Given the description of an element on the screen output the (x, y) to click on. 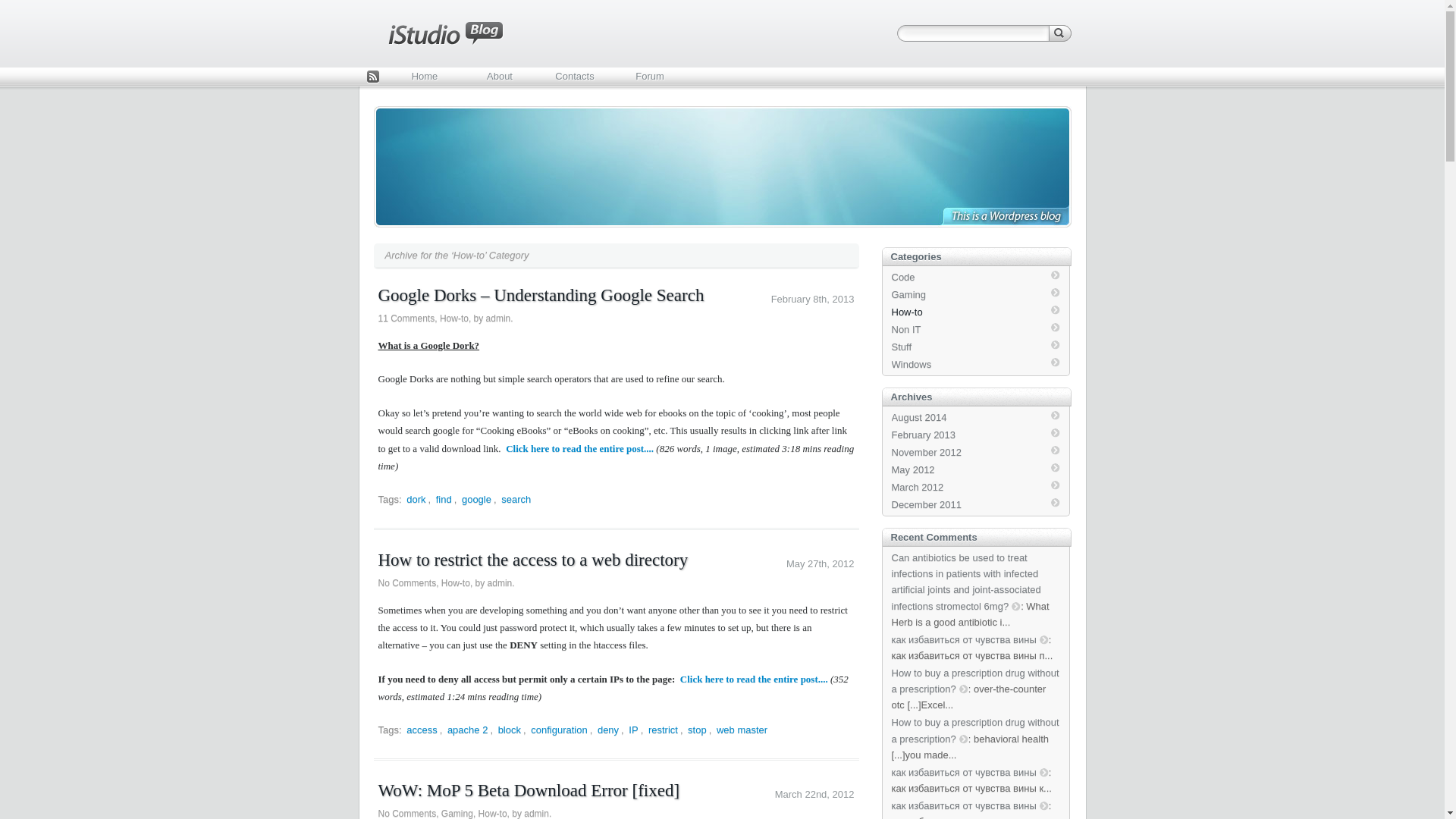
11 Comments (405, 317)
search (515, 499)
stop (697, 729)
Contacts (574, 78)
Home (424, 78)
block (509, 729)
Click here to read the entire post.... (579, 448)
restrict (662, 729)
No Comments (406, 583)
Search (1059, 33)
google (476, 499)
How-to (455, 583)
access (421, 729)
